Given the description of an element on the screen output the (x, y) to click on. 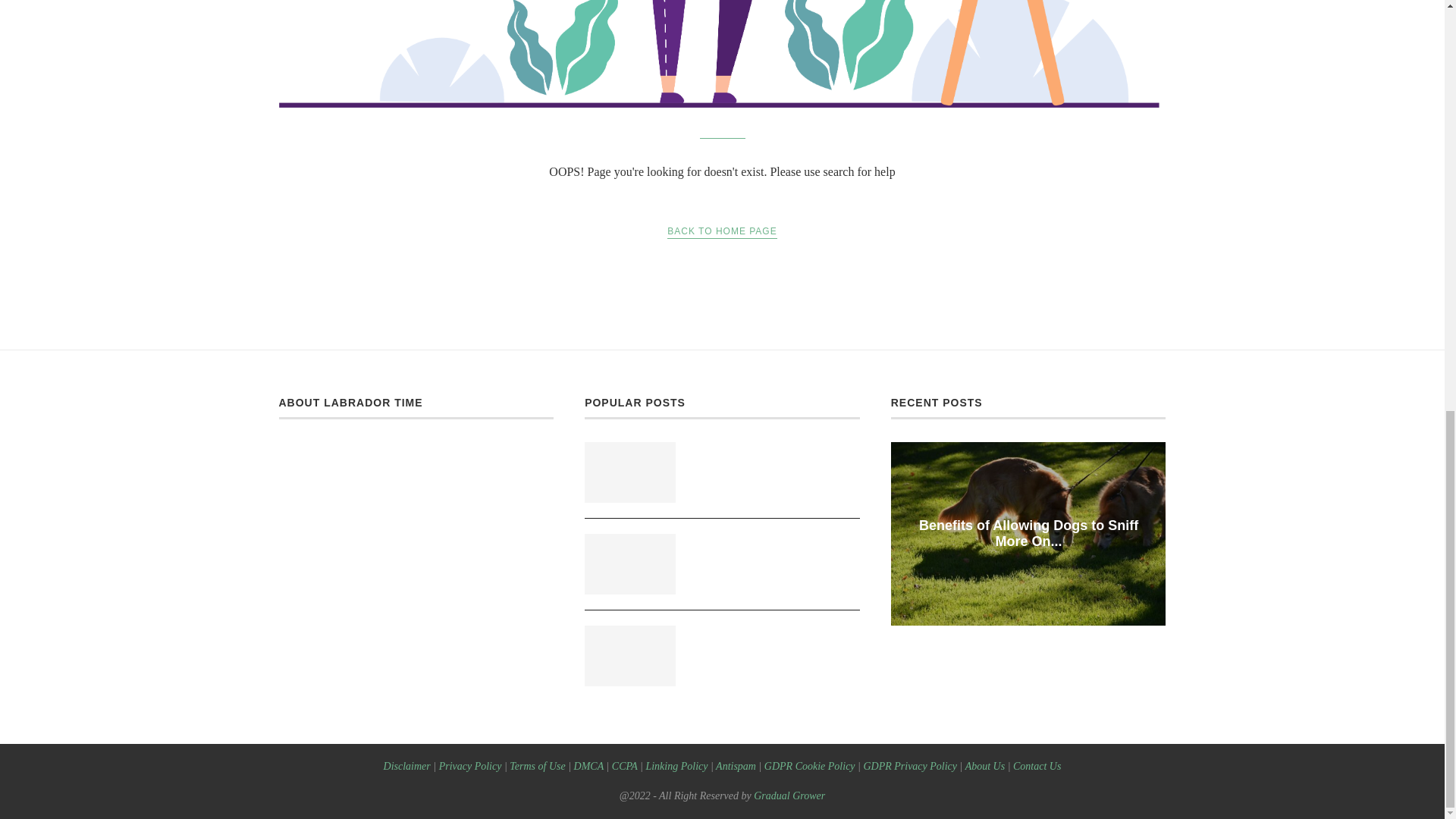
The Accomplished P. V. Sindhu (630, 563)
The Accomplished P. V. Sindhu (775, 550)
Everything You Need to know about Tan Labrador (775, 458)
Everything You Need to know about Tan Labrador (630, 472)
The Accomplished P. V. Sindhu (775, 550)
Gradual Grower (360, 622)
Everything You Need to know about Tan Labrador (775, 458)
BACK TO HOME PAGE (721, 231)
